Given the description of an element on the screen output the (x, y) to click on. 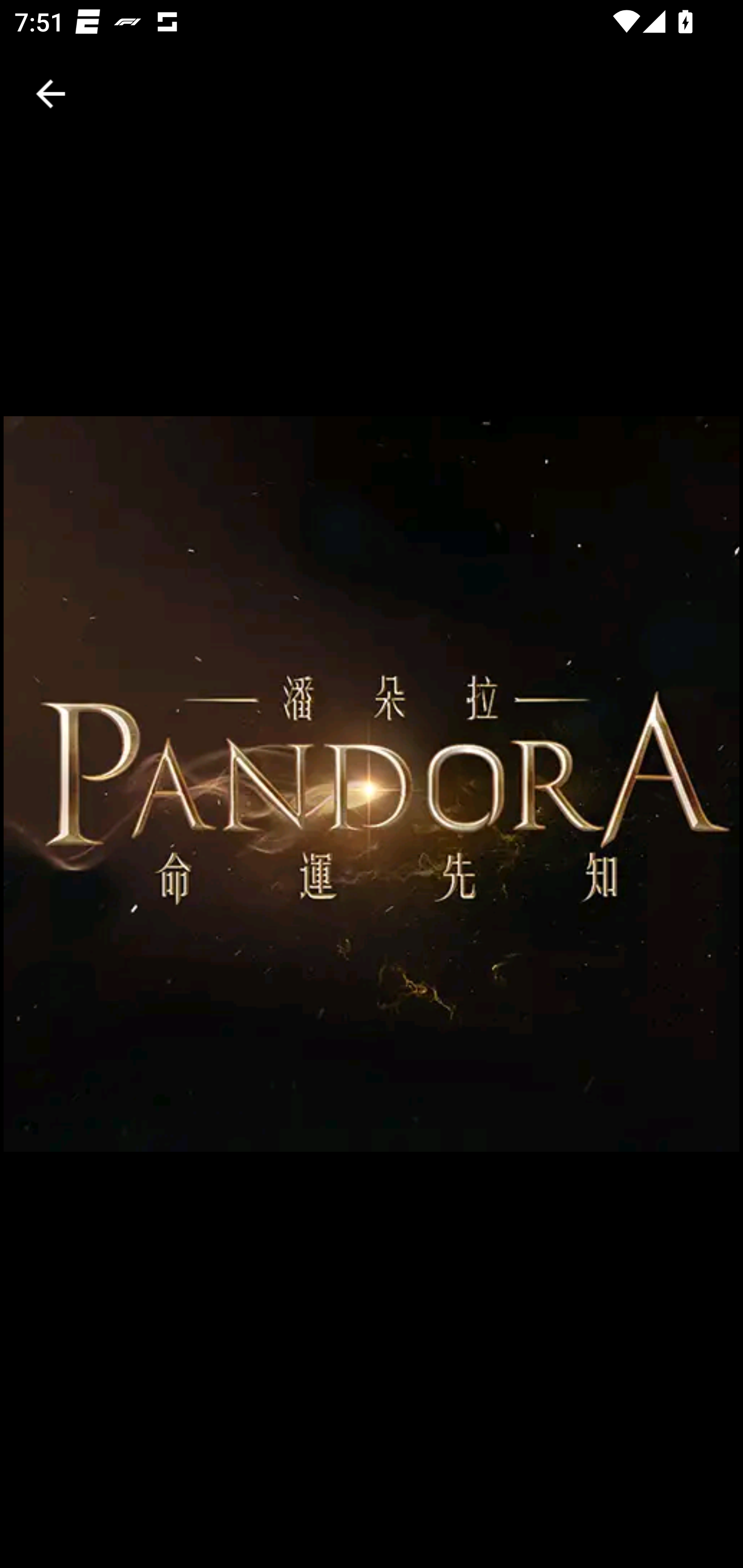
Back (50, 93)
